Given the description of an element on the screen output the (x, y) to click on. 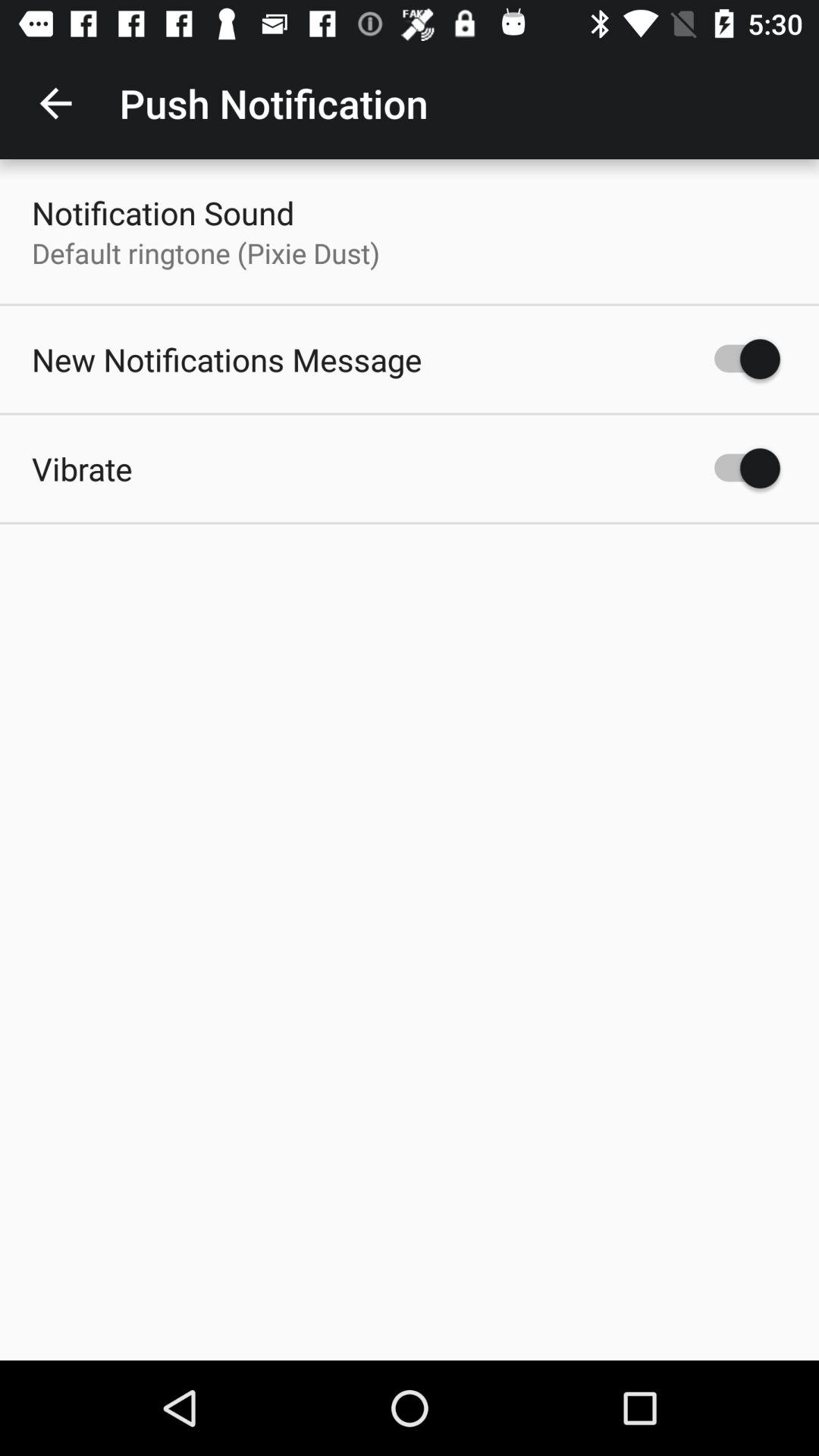
turn off icon above the default ringtone pixie (162, 212)
